Given the description of an element on the screen output the (x, y) to click on. 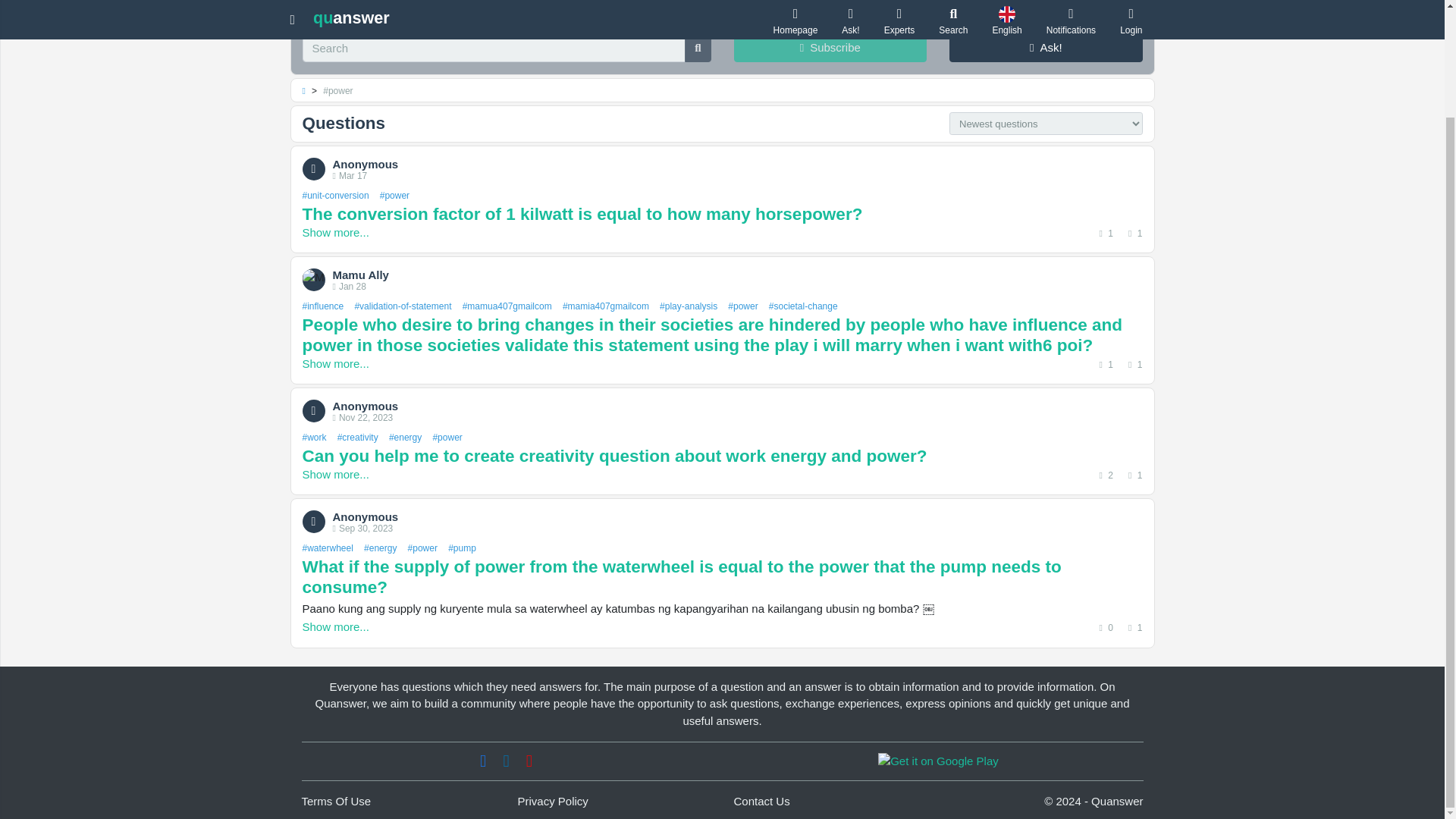
Ask! (1045, 48)
Show more... (334, 363)
Subscribe (830, 48)
Show more... (334, 232)
